Given the description of an element on the screen output the (x, y) to click on. 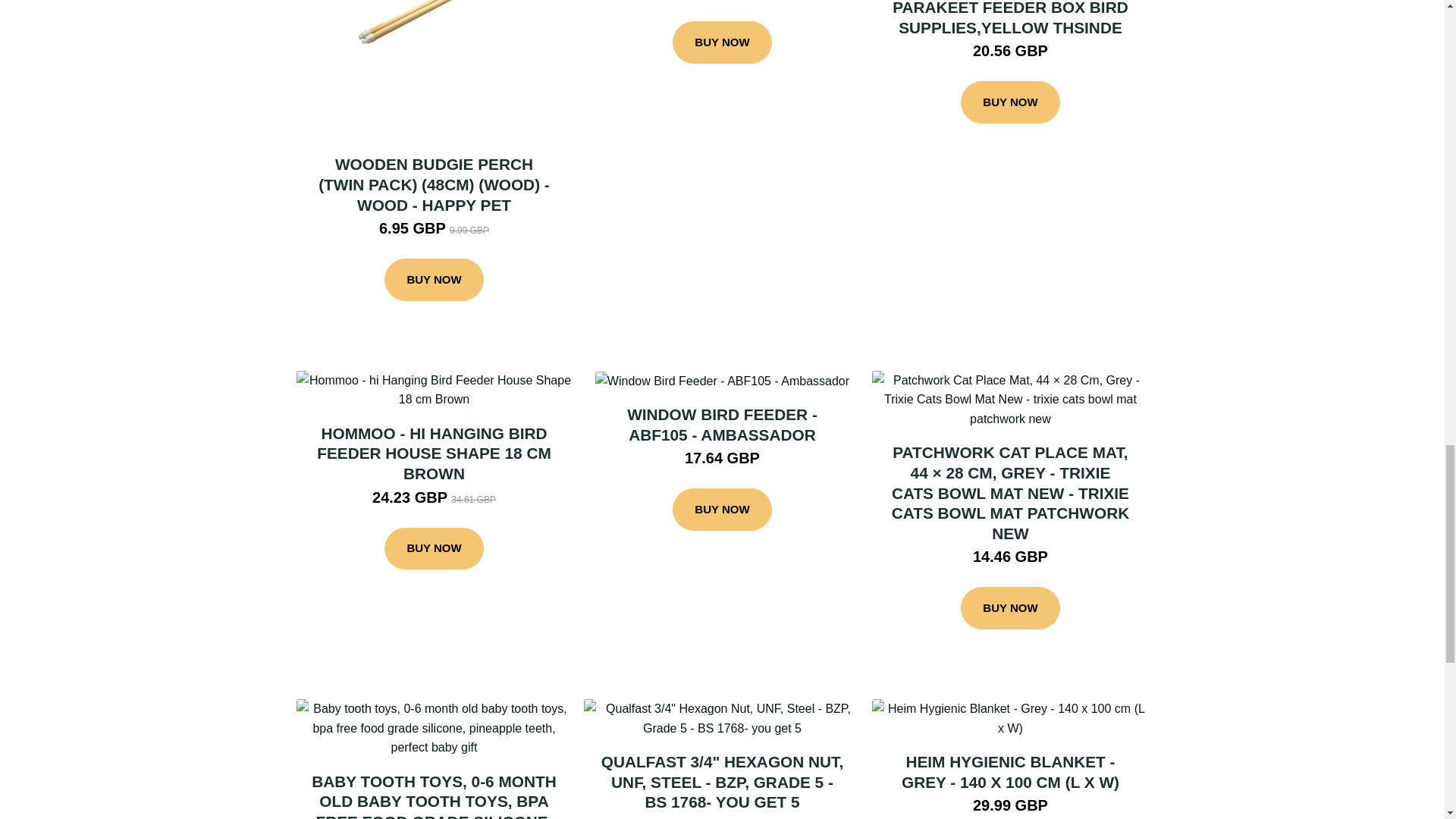
BUY NOW (433, 548)
BUY NOW (433, 279)
BUY NOW (721, 42)
HOMMOO - HI HANGING BIRD FEEDER HOUSE SHAPE 18 CM BROWN (434, 453)
BUY NOW (1009, 102)
WINDOW BIRD FEEDER - ABF105 - AMBASSADOR (721, 424)
BUY NOW (721, 509)
